Given the description of an element on the screen output the (x, y) to click on. 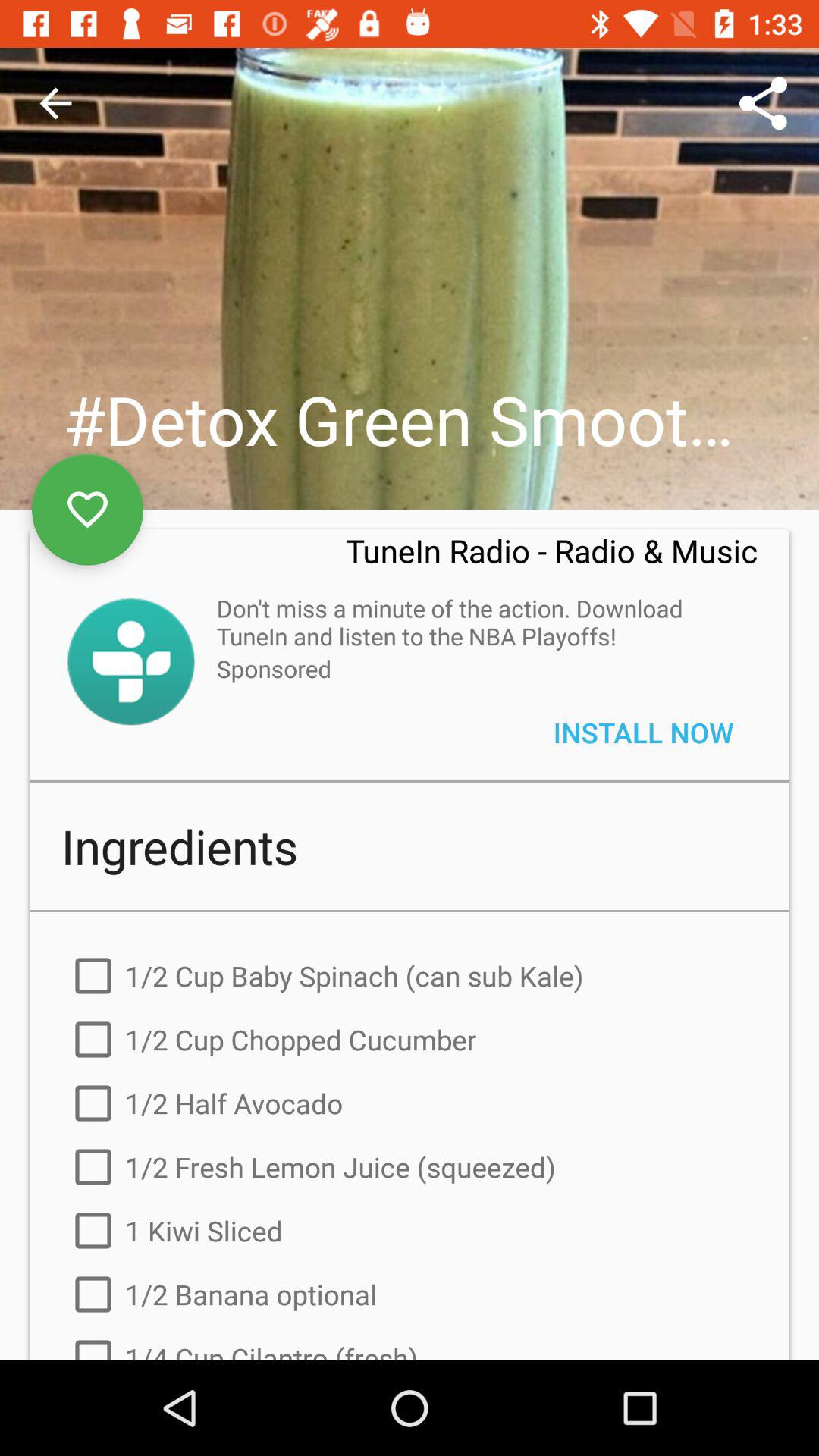
turn on icon below tunein radio radio (478, 622)
